Given the description of an element on the screen output the (x, y) to click on. 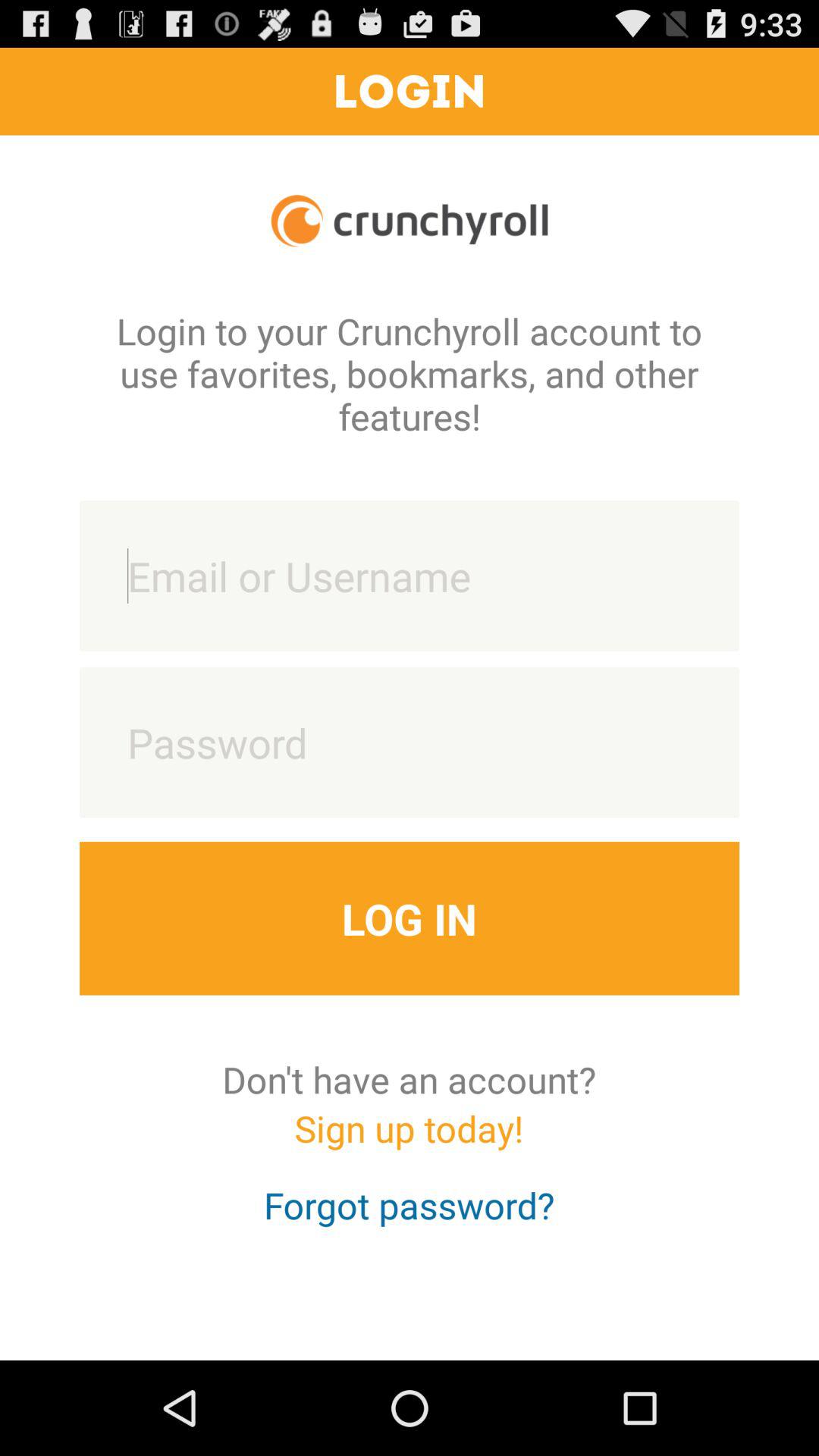
launch app above the sign up today! (409, 1079)
